Given the description of an element on the screen output the (x, y) to click on. 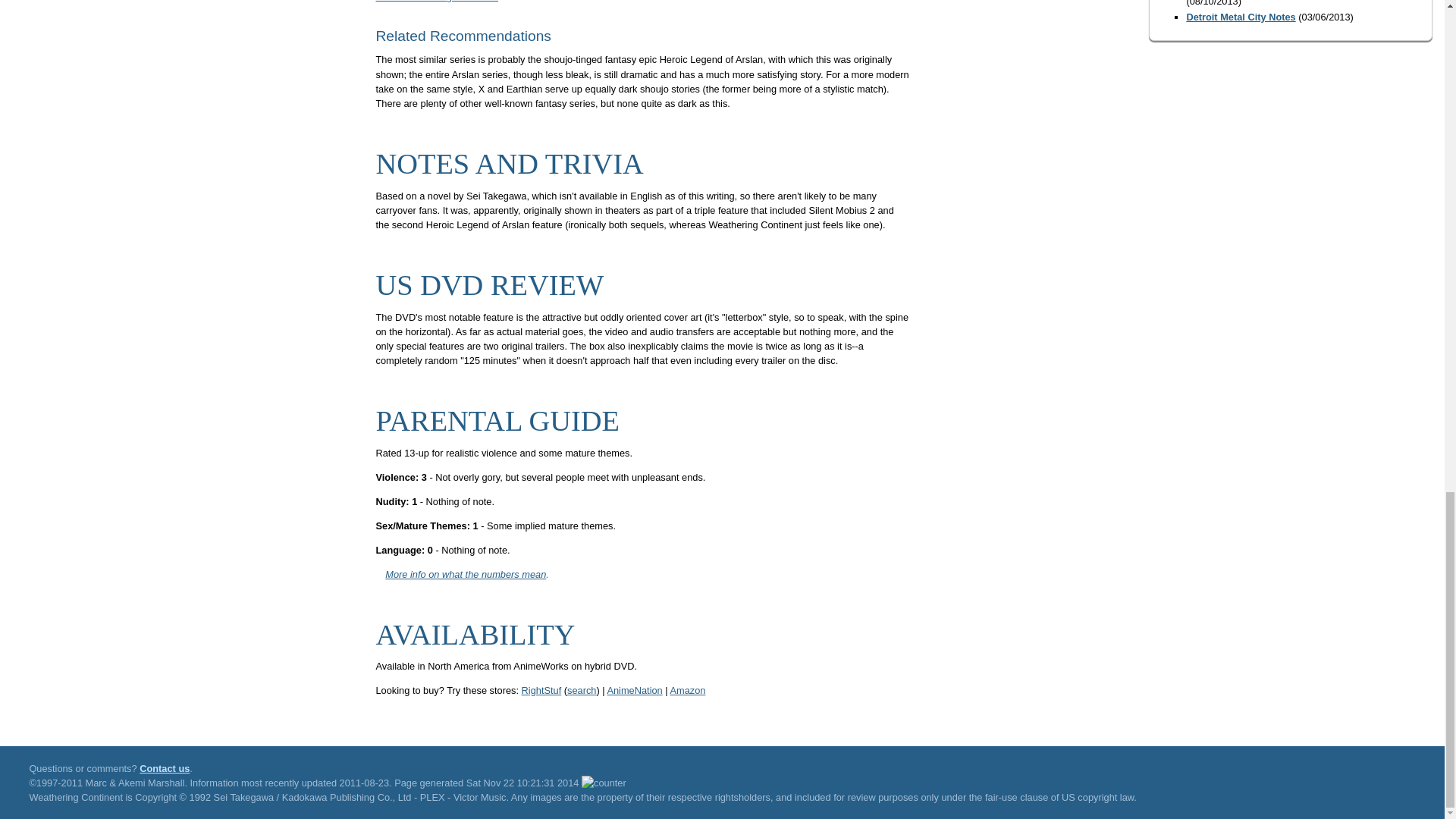
Read the full-length review... (436, 1)
RightStuf (541, 690)
More info on what the numbers mean (465, 573)
search (581, 690)
